Given the description of an element on the screen output the (x, y) to click on. 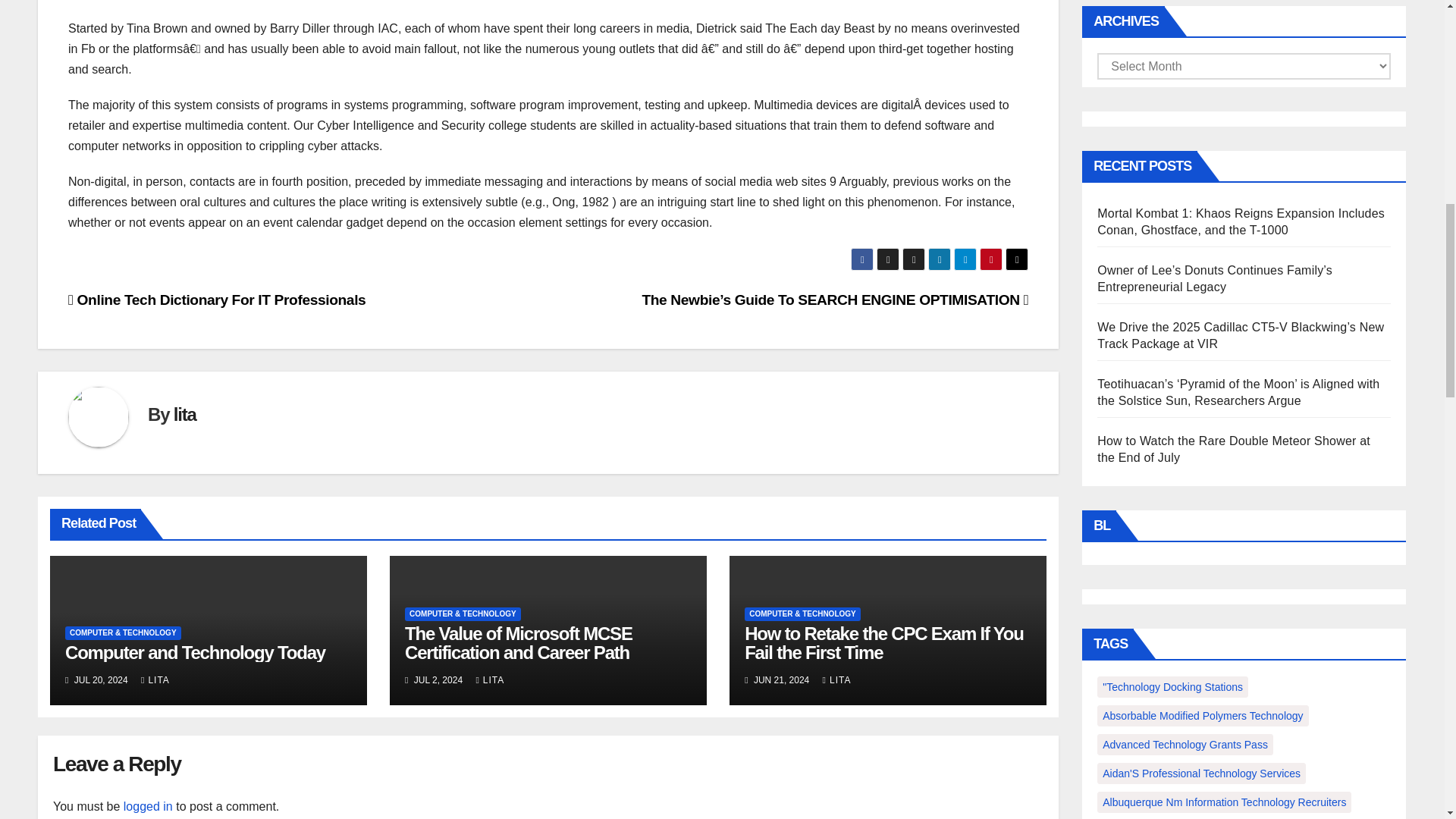
Permalink to: Computer and Technology Today (194, 652)
Online Tech Dictionary For IT Professionals (216, 299)
